Given the description of an element on the screen output the (x, y) to click on. 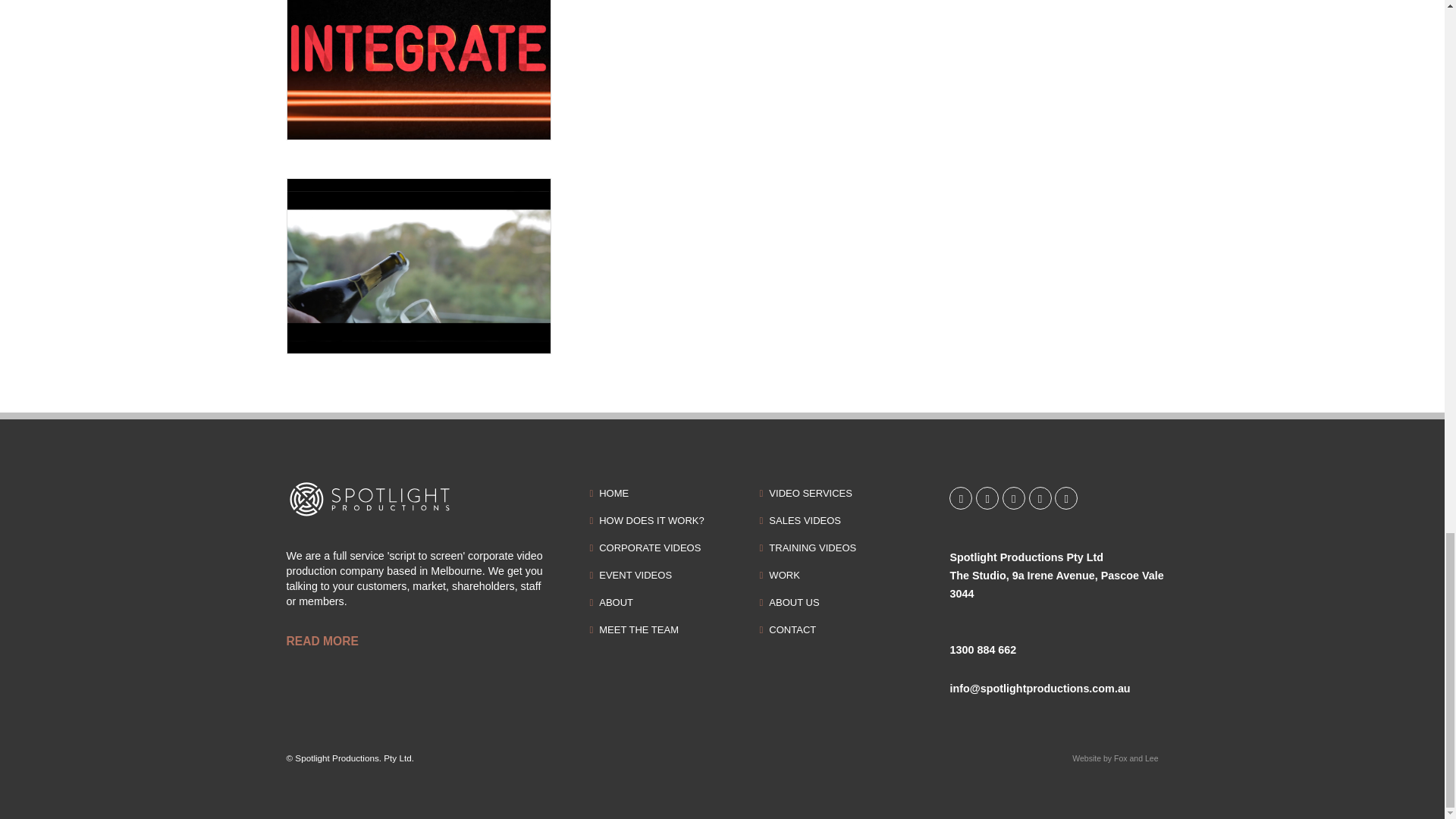
HOME (613, 492)
HOW DOES IT WORK? (650, 520)
VIDEO SERVICES (809, 492)
READ MORE (418, 641)
SALES VIDEOS (804, 520)
